Given the description of an element on the screen output the (x, y) to click on. 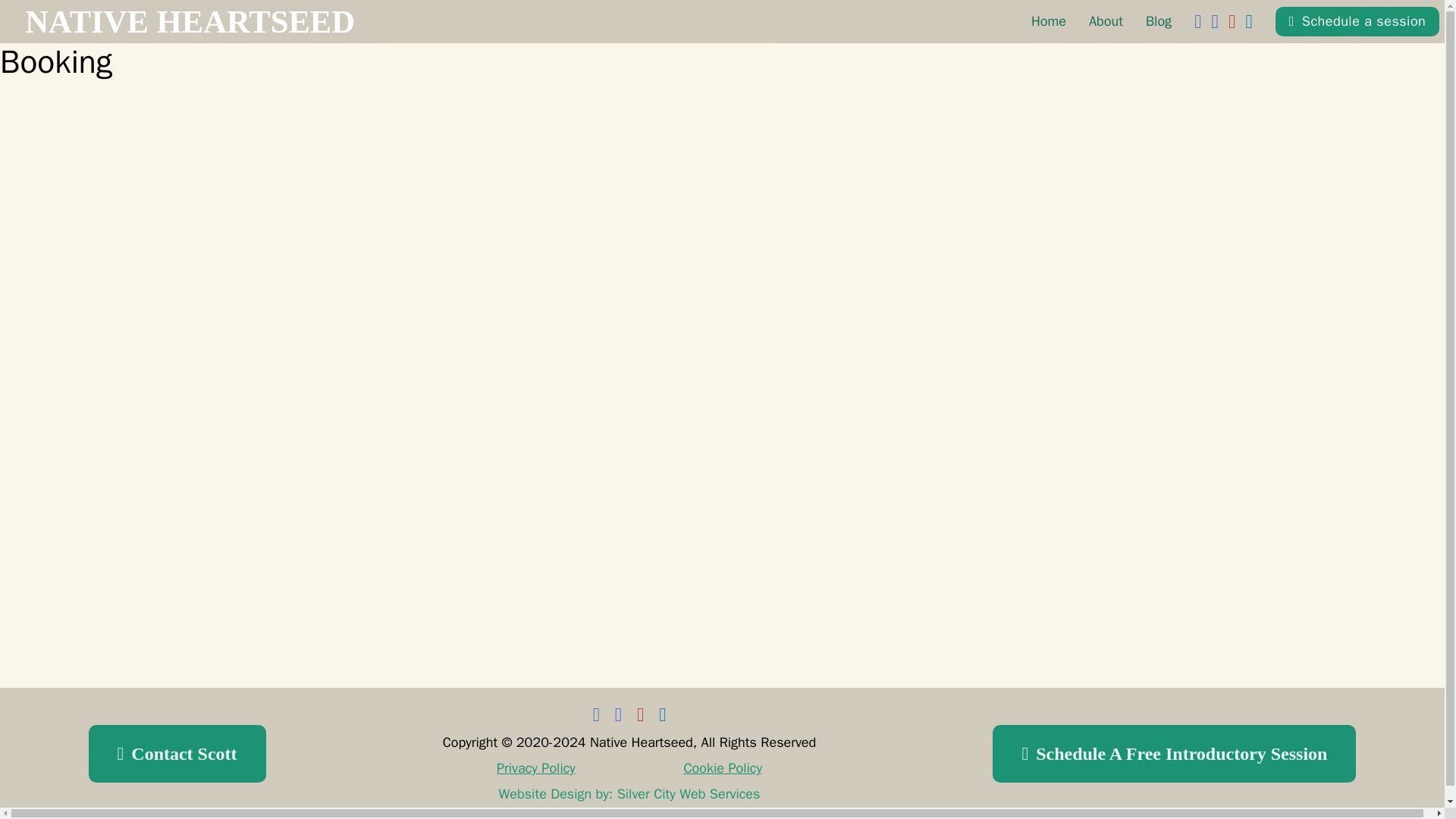
Contact Scott (177, 753)
Website Design by: Silver City Web Services (629, 794)
Cookie Policy (721, 768)
Schedule a session (722, 21)
NATIVE HEARTSEED (1357, 21)
Privacy Policy (189, 21)
